Given the description of an element on the screen output the (x, y) to click on. 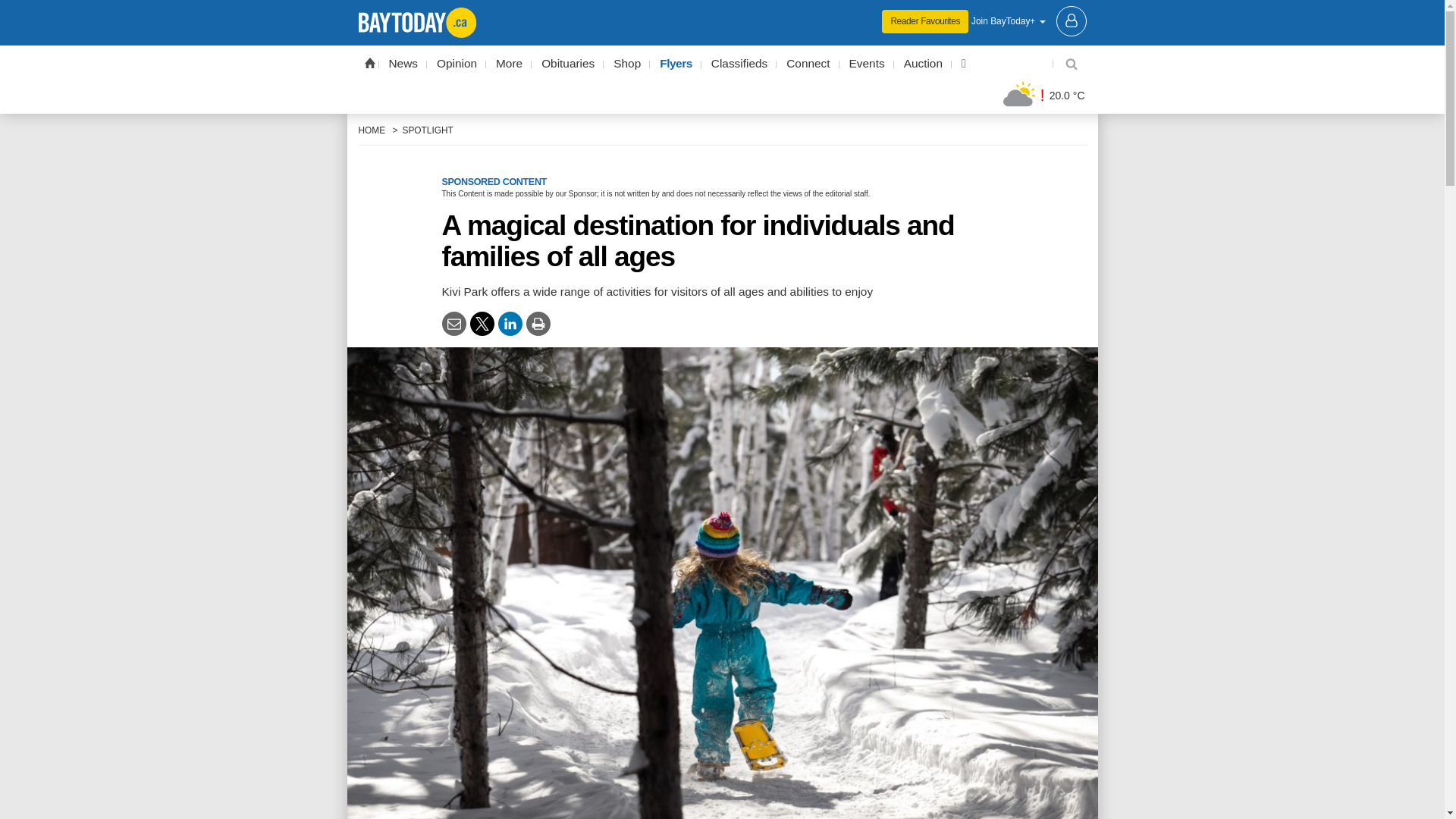
Home (368, 62)
News (403, 64)
Reader Favourites (925, 21)
